Given the description of an element on the screen output the (x, y) to click on. 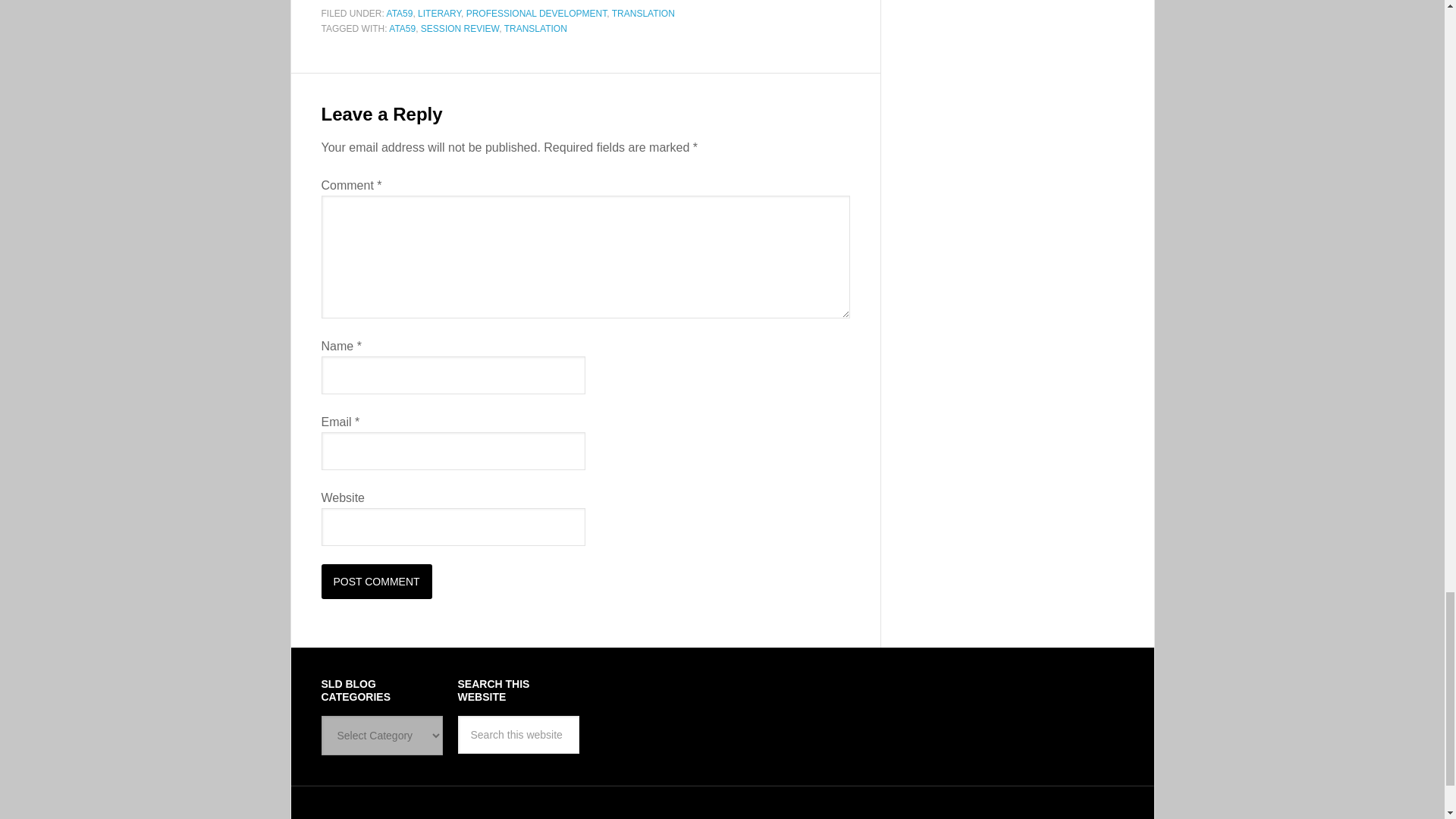
TRANSLATION (643, 13)
SESSION REVIEW (459, 28)
TRANSLATION (535, 28)
ATA59 (400, 13)
LITERARY (439, 13)
ATA59 (401, 28)
Post Comment (376, 581)
PROFESSIONAL DEVELOPMENT (536, 13)
Post Comment (376, 581)
